Given the description of an element on the screen output the (x, y) to click on. 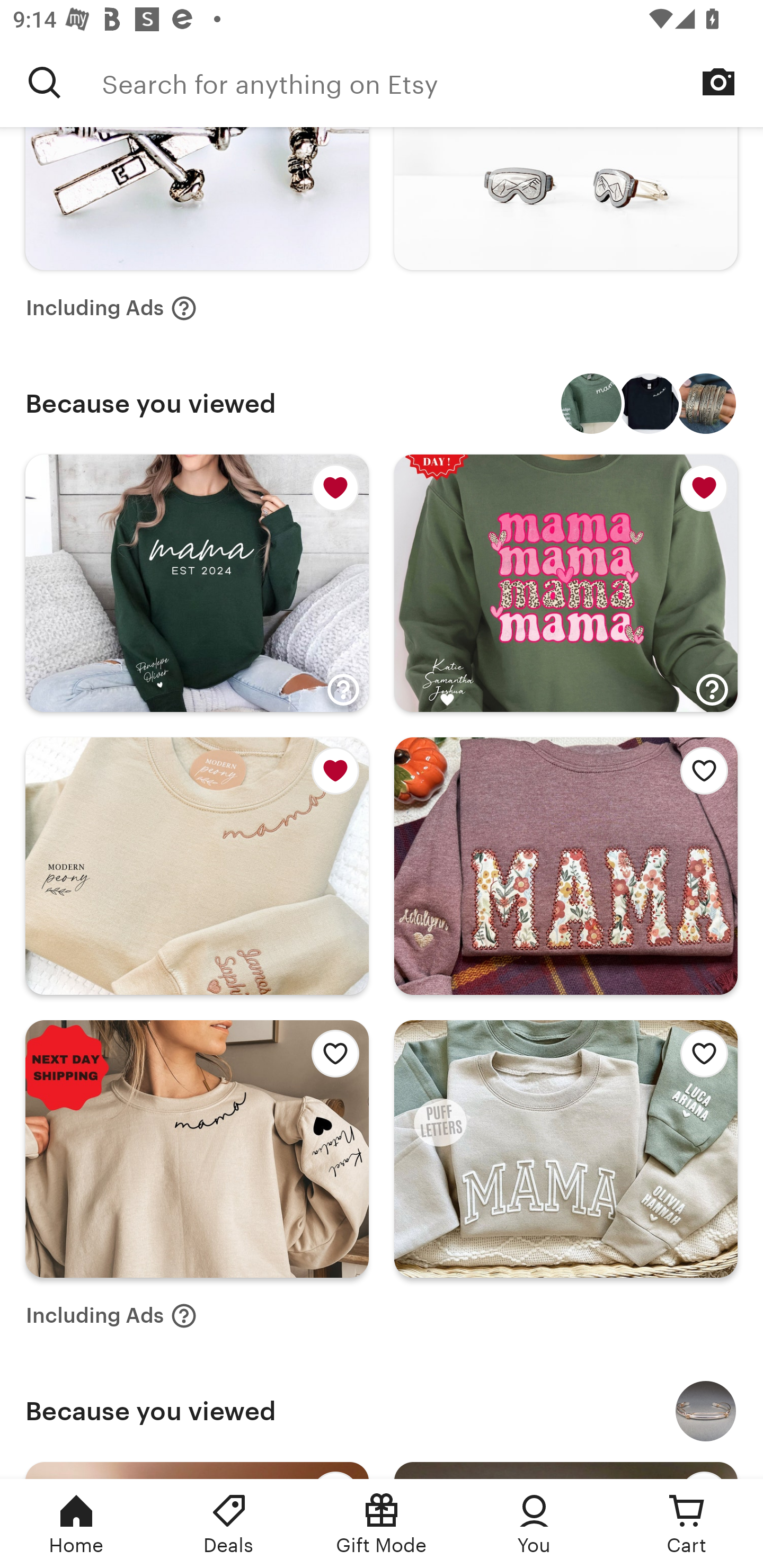
Search for anything on Etsy (44, 82)
Search by image (718, 81)
Search for anything on Etsy (432, 82)
Including Ads (111, 307)
Including Ads (111, 1315)
Deals (228, 1523)
Gift Mode (381, 1523)
You (533, 1523)
Cart (686, 1523)
